Given the description of an element on the screen output the (x, y) to click on. 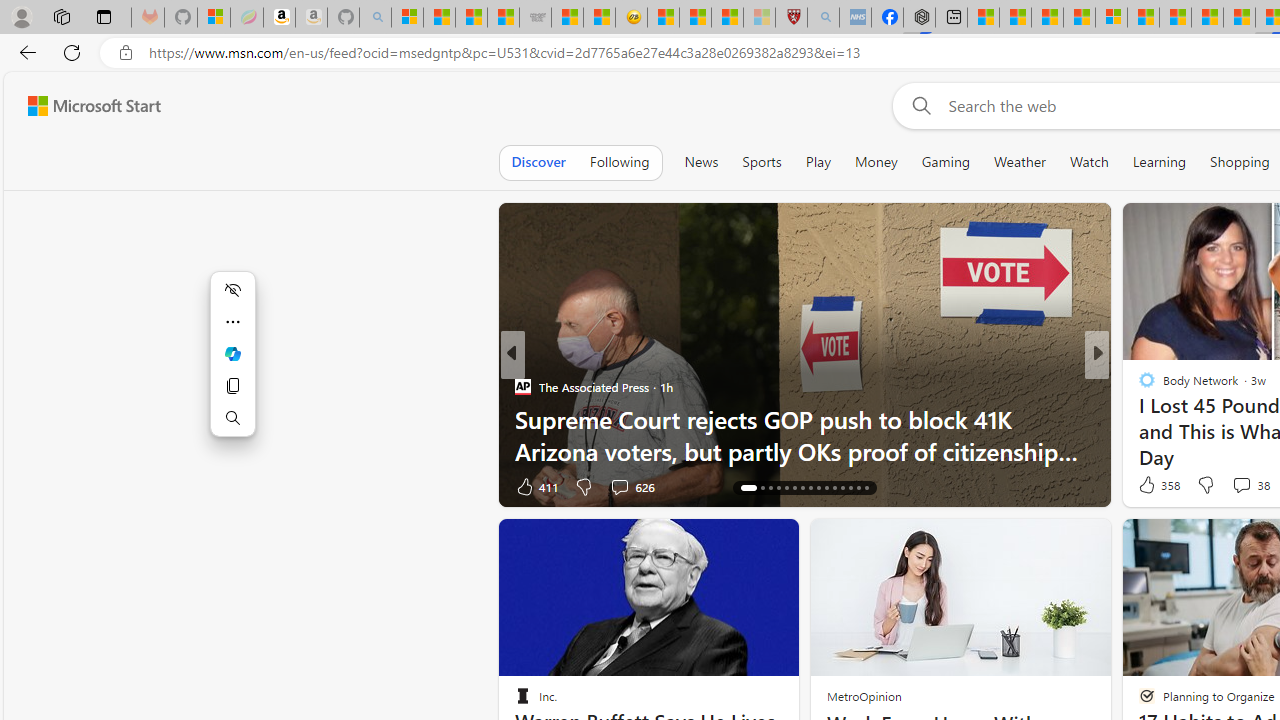
View comments 11 Comment (1229, 485)
876 Like (1151, 486)
View comments 11 Comment (1237, 486)
HuffPost UK (1138, 386)
View comments 34 Comment (1244, 486)
HowToGeek (1138, 418)
View comments 64 Comment (1244, 486)
